Given the description of an element on the screen output the (x, y) to click on. 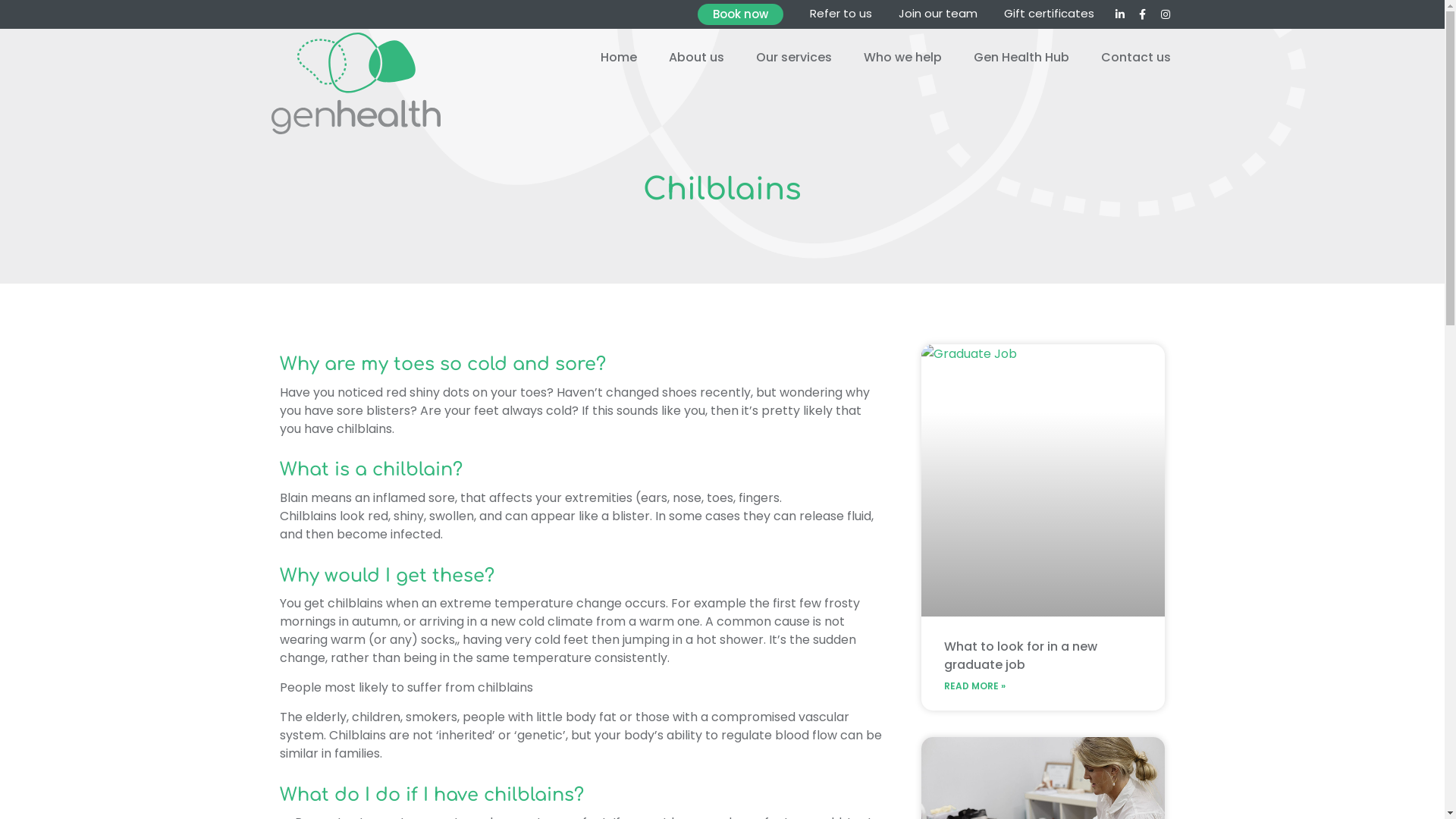
About us Element type: text (696, 57)
What to look for in a new graduate job Element type: text (1020, 655)
Gift certificates Element type: text (1049, 13)
Home Element type: text (618, 57)
Refer to us Element type: text (840, 13)
Our services Element type: text (793, 57)
Join our team Element type: text (936, 13)
Book now Element type: text (740, 14)
Who we help Element type: text (902, 57)
Gen Health Hub Element type: text (1021, 57)
Contact us Element type: text (1135, 57)
